Given the description of an element on the screen output the (x, y) to click on. 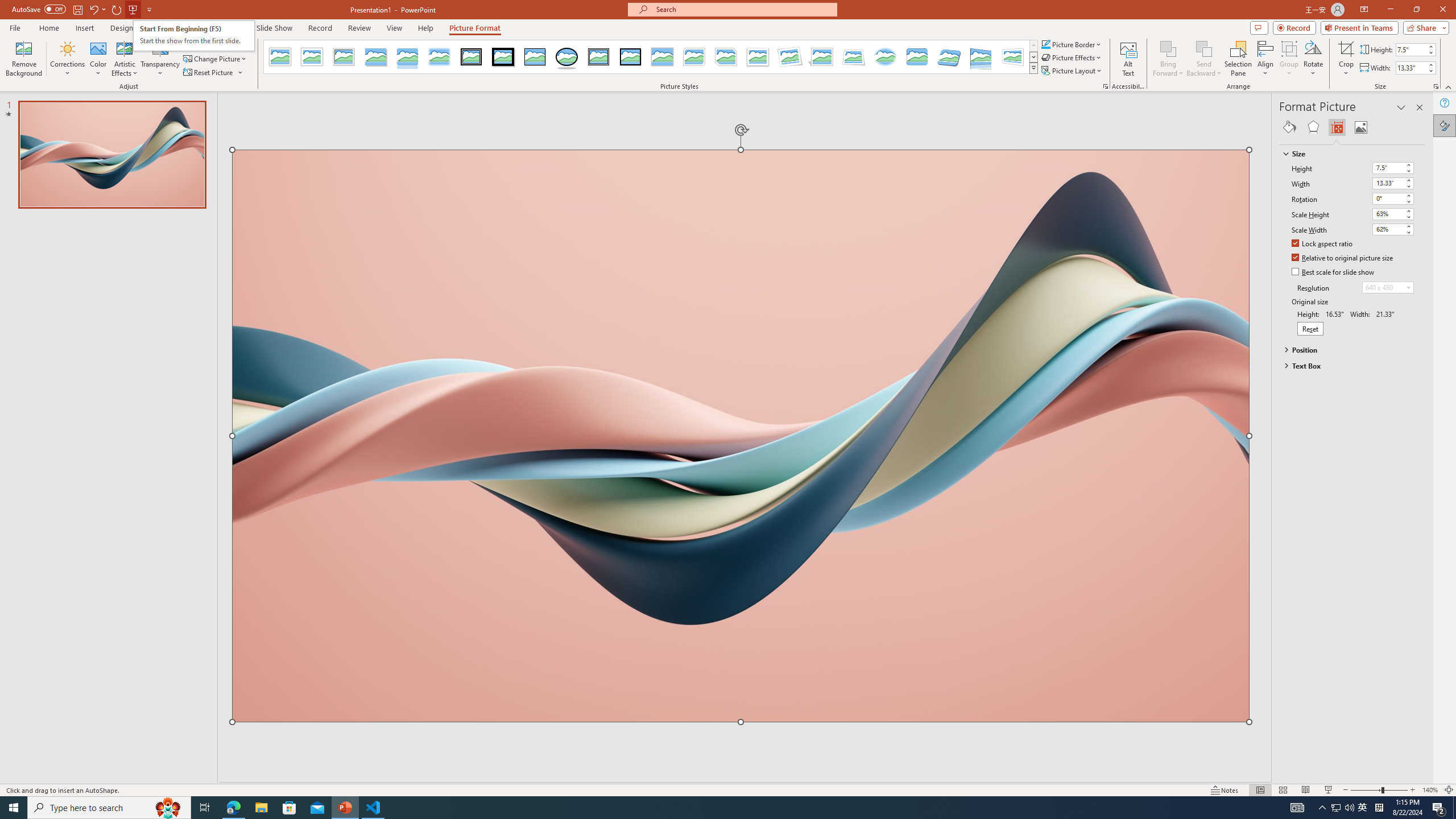
Perspective Shadow, White (821, 56)
More (1430, 64)
Class: NetUIGalleryContainer (1352, 126)
Shape Width (1410, 67)
AutomationID: PictureStylesGallery (650, 56)
Minimize (1390, 9)
Artistic Effects (124, 58)
Restore Down (1416, 9)
Record (1294, 27)
Rotate (1312, 58)
Rotation (1388, 198)
System (6, 6)
System (6, 6)
Picture Format (475, 28)
Slide Sorter (1282, 790)
